Given the description of an element on the screen output the (x, y) to click on. 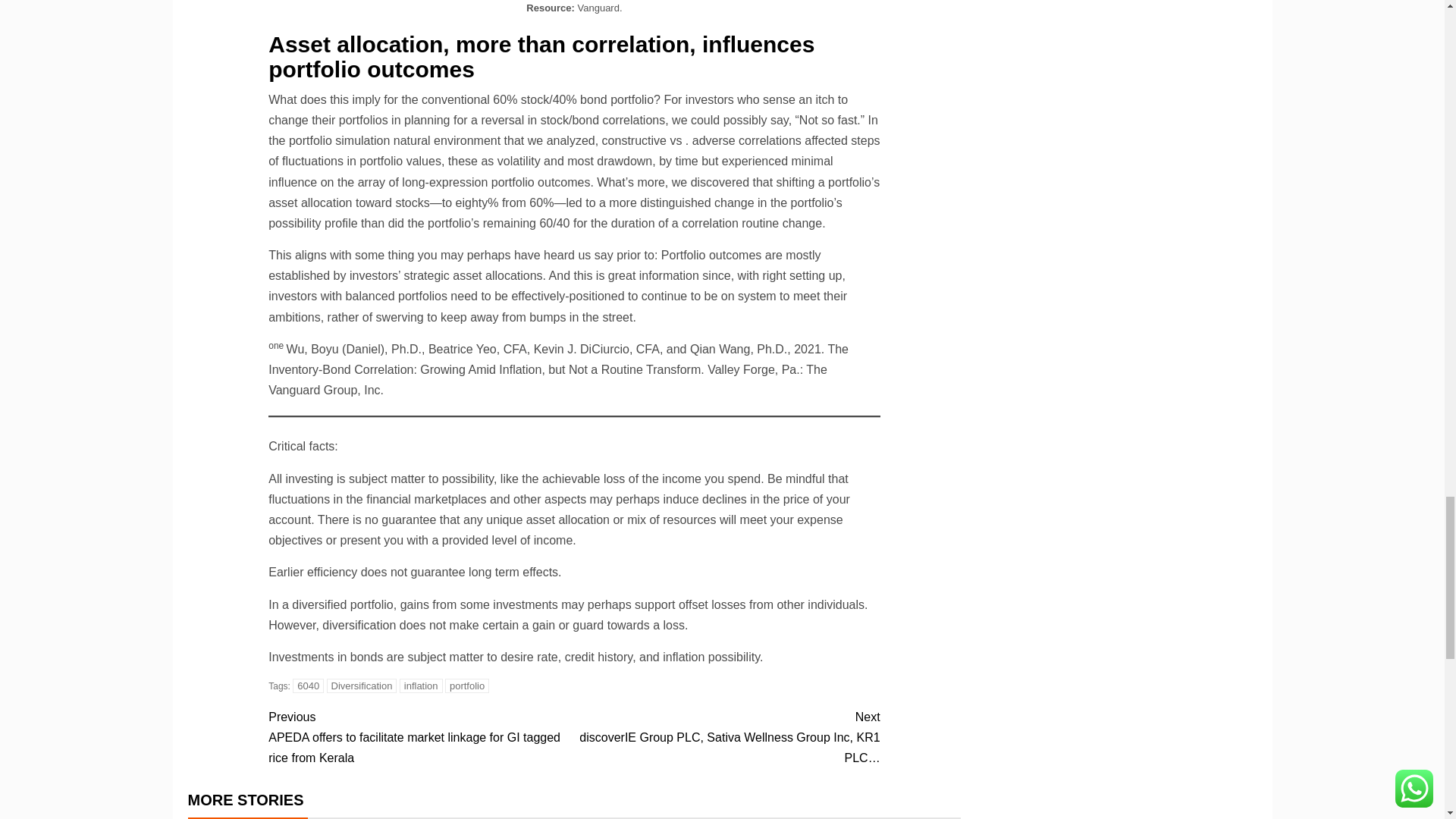
6040 (307, 685)
